Given the description of an element on the screen output the (x, y) to click on. 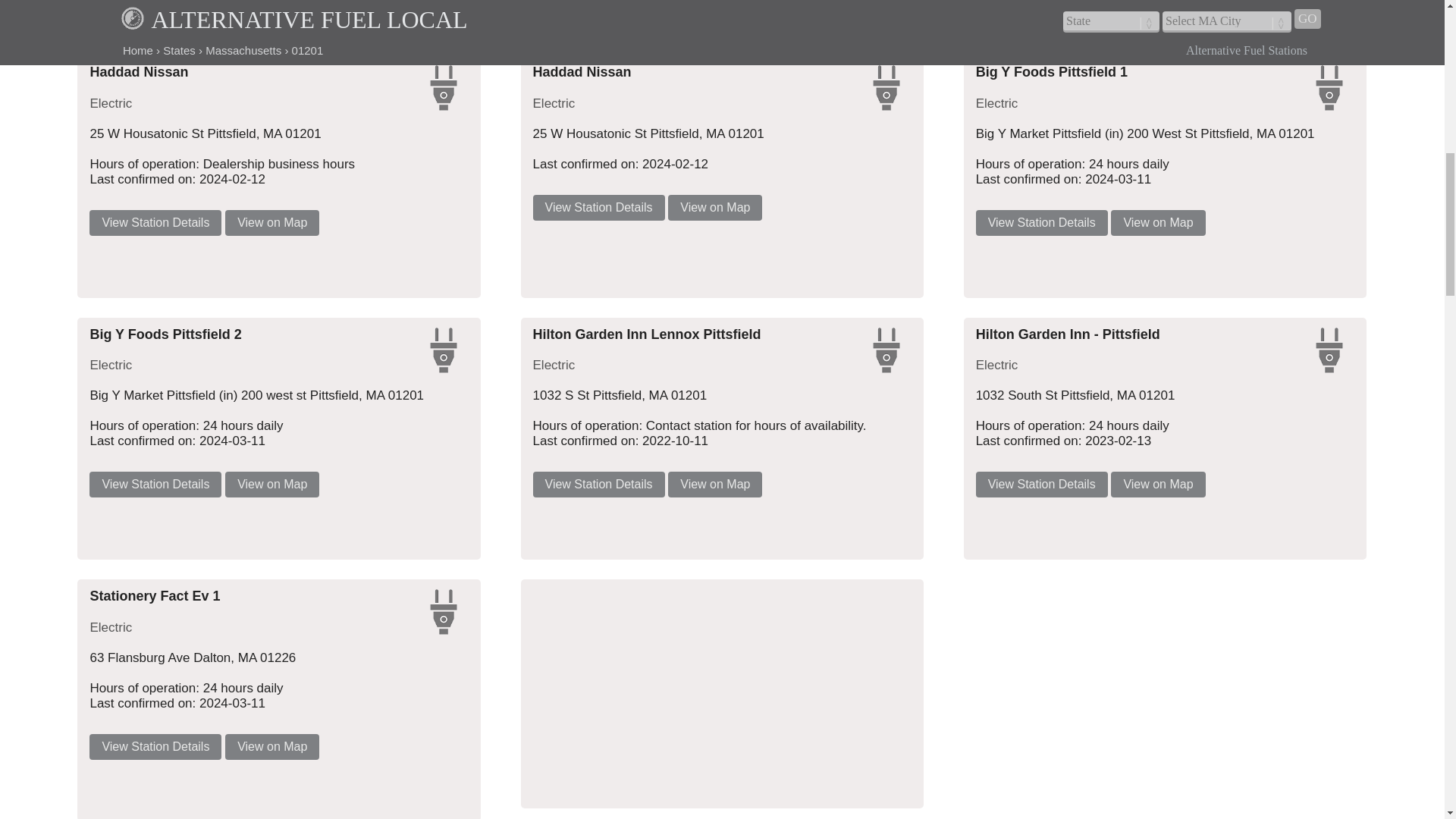
Electric (442, 350)
Electric (885, 350)
View Station Details (154, 484)
View Station Details (1041, 222)
Electric (1328, 88)
Advertisement (382, 7)
View Station Details (598, 484)
View on Map (1157, 222)
View on Map (1157, 484)
View on Map (714, 207)
View Station Details (154, 746)
View on Map (271, 222)
View on Map (271, 746)
View Station Details (154, 222)
Electric (442, 88)
